Given the description of an element on the screen output the (x, y) to click on. 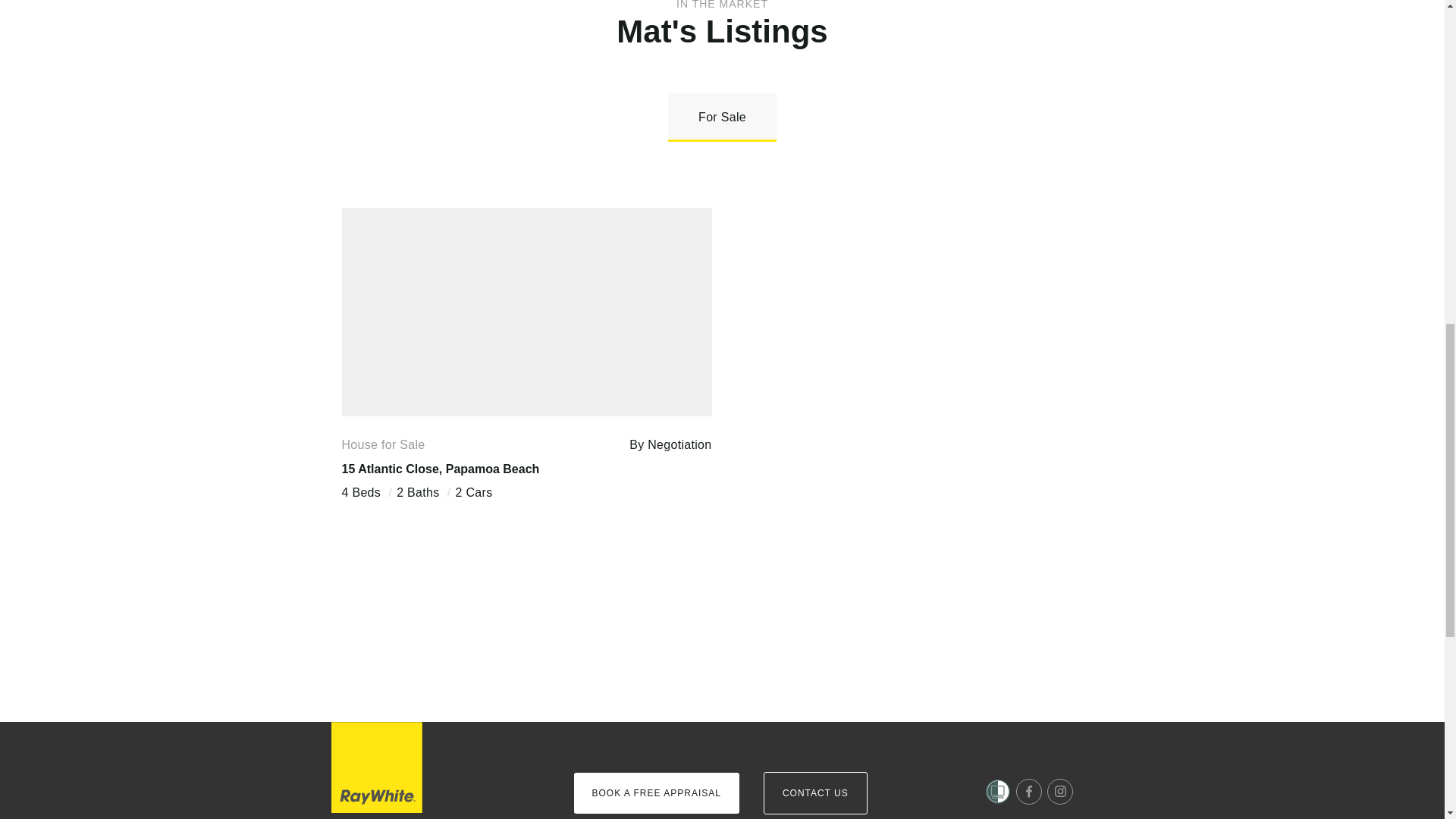
15 Atlantic Close, Papamoa Beach (439, 468)
Instagram (1059, 791)
Ray White (376, 767)
CONTACT US (814, 793)
BOOK A FREE APPRAISAL (655, 793)
Facebook (1029, 791)
